Given the description of an element on the screen output the (x, y) to click on. 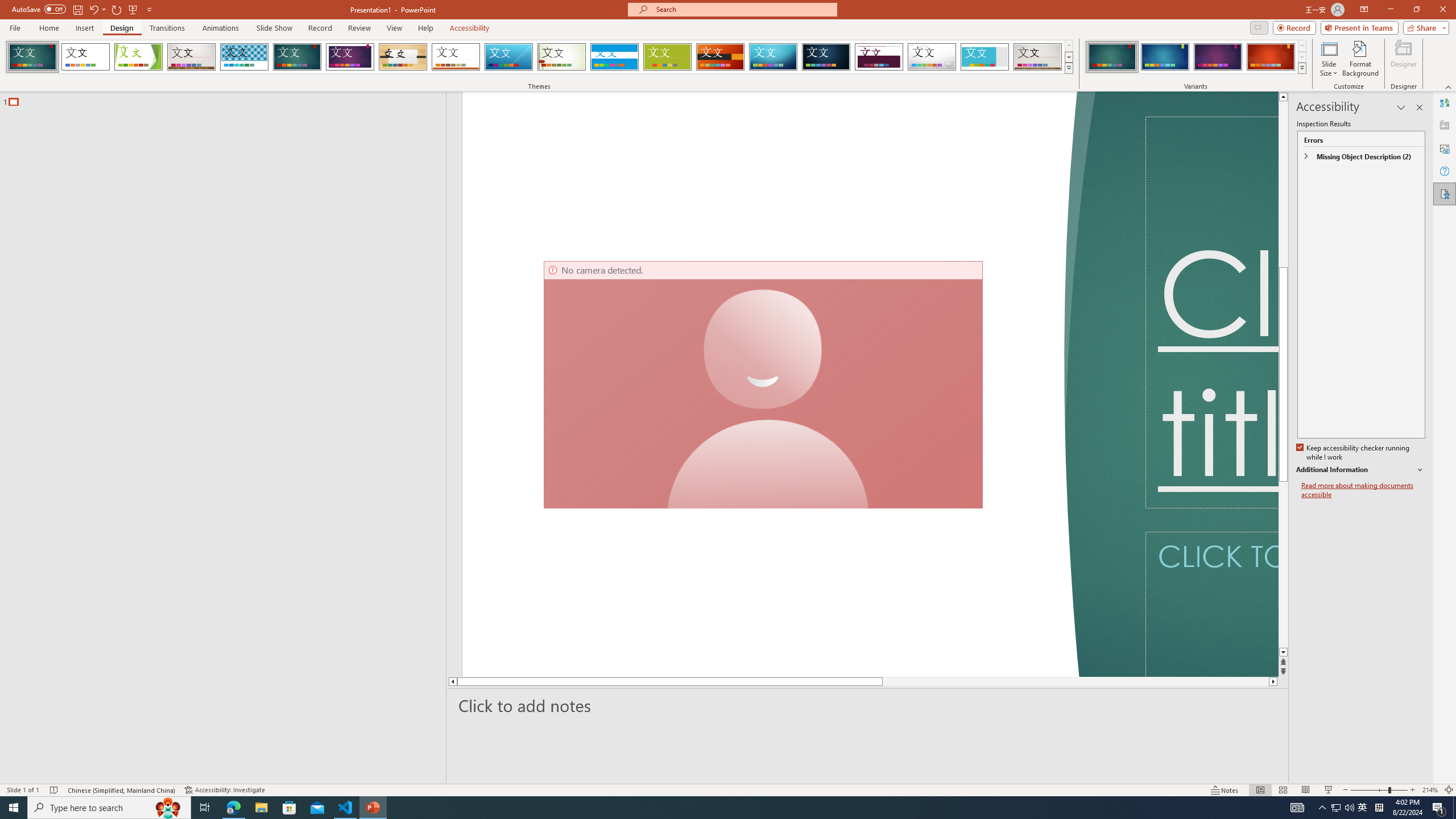
Line down (1283, 652)
Additional Information (1360, 469)
Format Background (1360, 58)
Berlin (720, 56)
Circuit (772, 56)
Class: MsoCommandBar (728, 789)
Row up (1301, 45)
Zoom 214% (1430, 790)
Accessibility (1444, 193)
Slide Size (1328, 58)
